Given the description of an element on the screen output the (x, y) to click on. 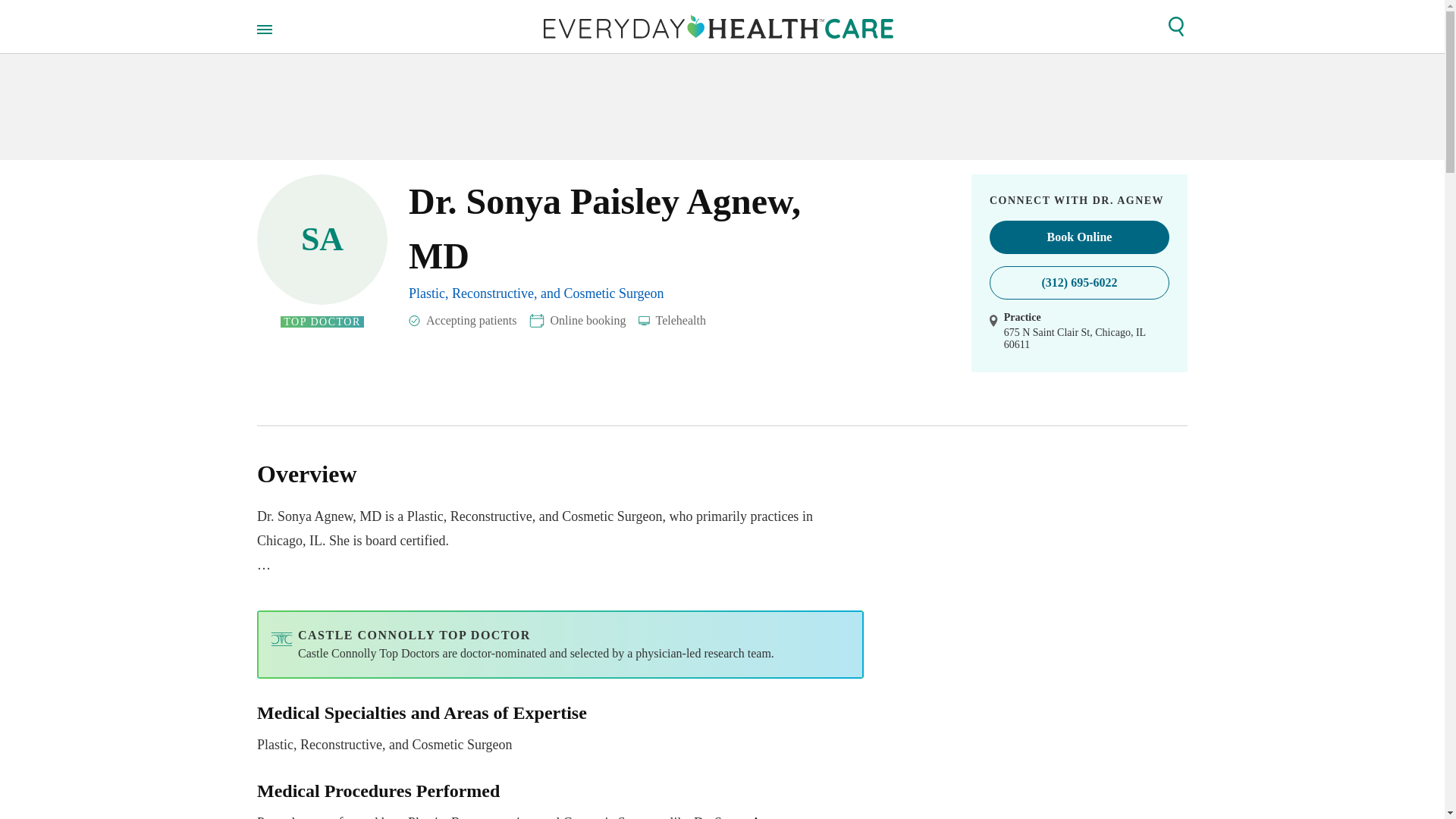
Plastic, Reconstructive, and Cosmetic Surgeon (536, 293)
Book Online (1079, 236)
